Given the description of an element on the screen output the (x, y) to click on. 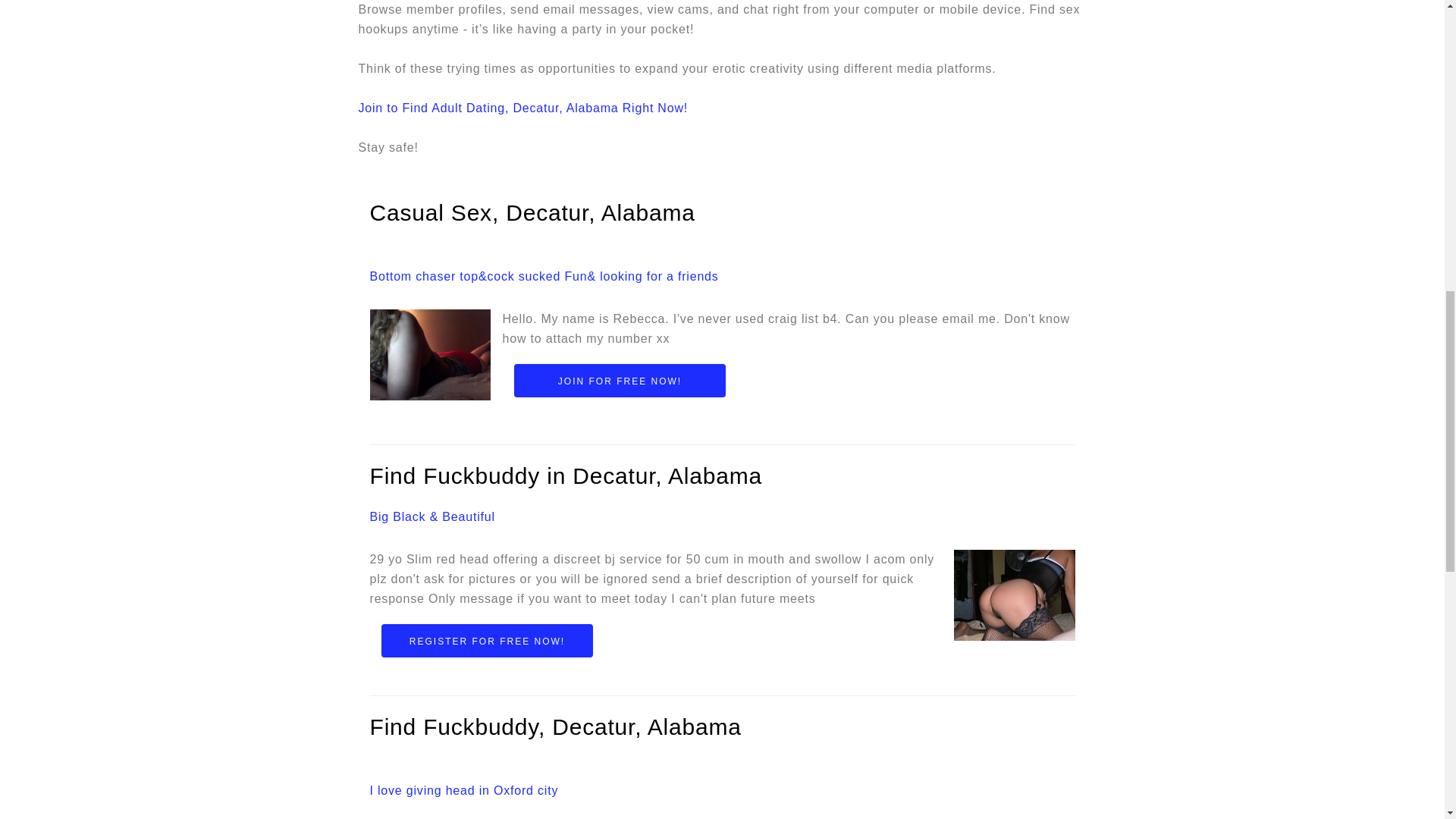
JOIN FOR FREE NOW! (619, 380)
I love giving head in Oxford city (464, 790)
Join to Find Adult Dating, Decatur, Alabama Right Now! (522, 108)
REGISTER FOR FREE NOW! (486, 640)
